Given the description of an element on the screen output the (x, y) to click on. 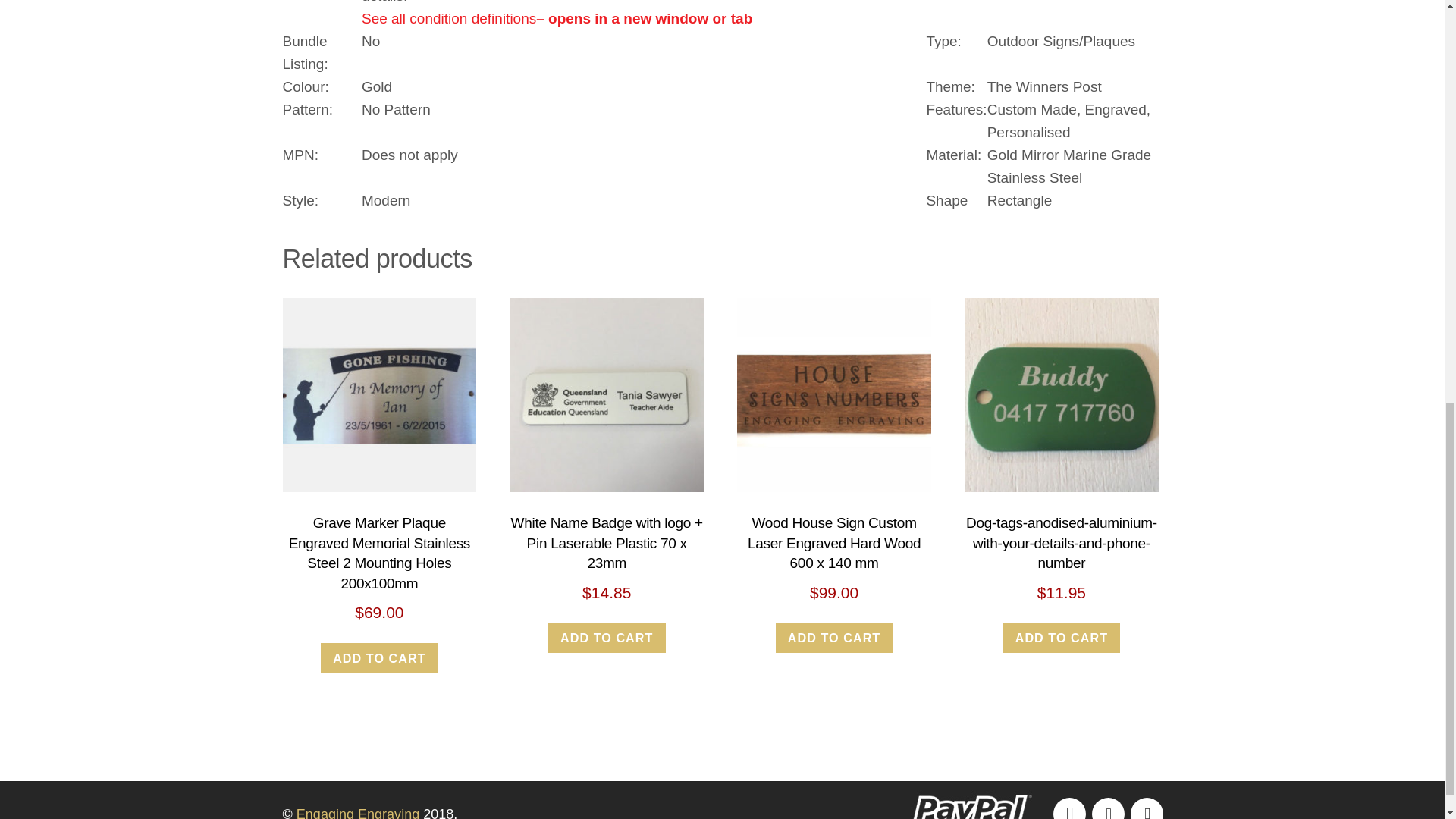
Twitter (1107, 812)
Facebook (1067, 812)
ADD TO CART (606, 637)
ADD TO CART (834, 637)
ADD TO CART (1062, 637)
ADD TO CART (379, 657)
linkedin (1145, 812)
